Given the description of an element on the screen output the (x, y) to click on. 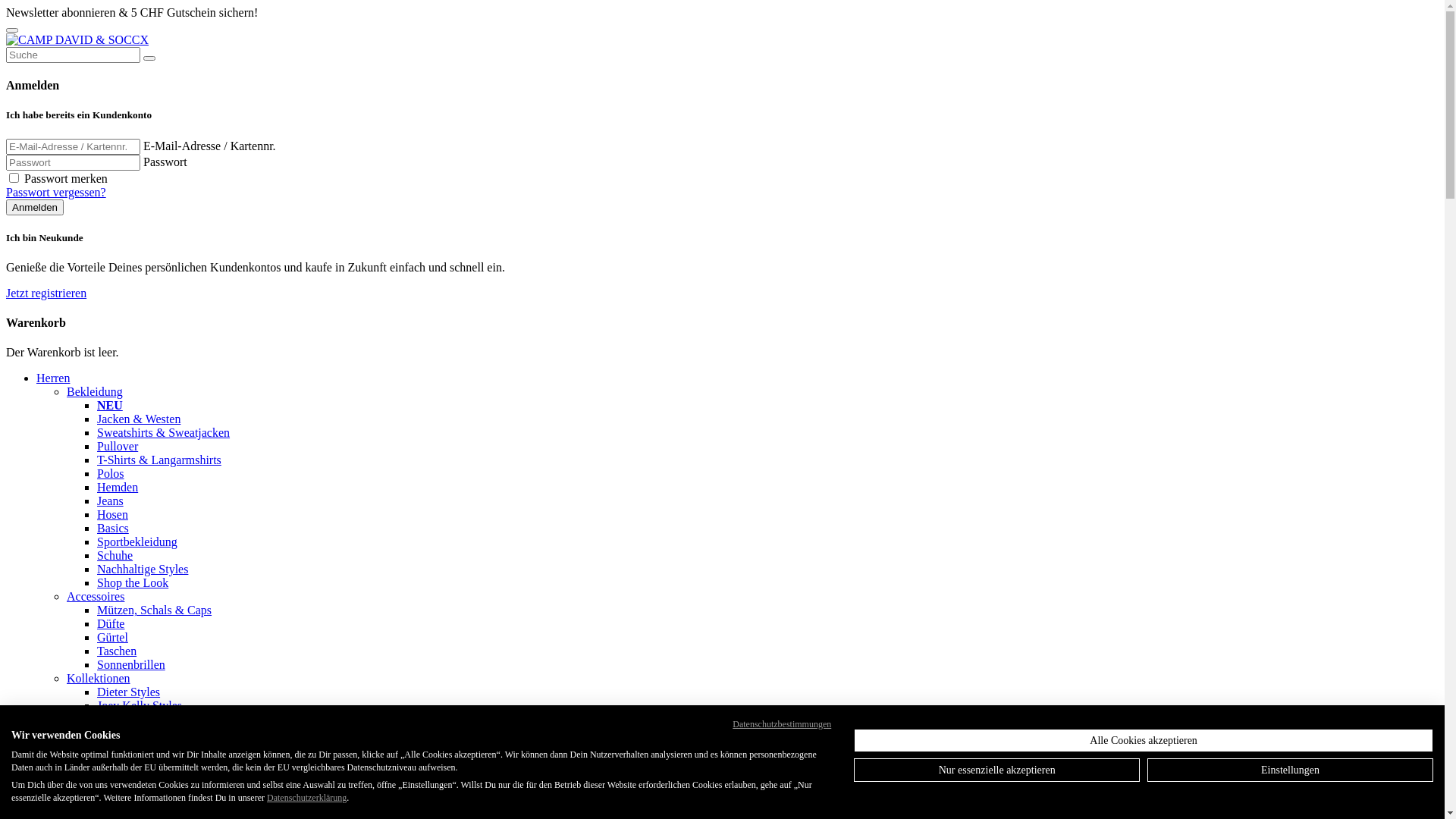
Shop the Look Element type: text (132, 582)
Urban Bike Element type: text (125, 773)
Suchen Element type: hover (149, 58)
Bekleidung Element type: text (94, 391)
Jeans Element type: text (110, 500)
Rhythm Of Berlin Element type: text (141, 718)
Kollektionen Element type: text (98, 677)
Aim For The Sky Element type: text (139, 787)
Herren Element type: text (52, 377)
Joey Kelly Styles Element type: text (139, 705)
Polos Element type: text (110, 473)
Jacken & Westen Element type: text (138, 418)
NEU Element type: text (109, 404)
Feel Free Element type: text (119, 732)
Sportbekleidung Element type: text (137, 541)
Einstellungen Element type: text (1290, 769)
Hemden Element type: text (117, 486)
Ski Race Element type: text (118, 746)
Jetzt registrieren Element type: text (46, 292)
Pullover Element type: text (117, 445)
Nachhaltige Styles Element type: text (142, 568)
Basics Element type: text (112, 527)
CAMP DAVID & SOCCX Element type: hover (77, 39)
Passwort vergessen? Element type: text (56, 191)
Nur essenzielle akzeptieren Element type: text (996, 769)
T-Shirts & Langarmshirts Element type: text (159, 459)
Mission Underwater Element type: text (146, 800)
Taschen Element type: text (116, 650)
Sweatshirts & Sweatjacken Element type: text (163, 432)
Dieter Styles Element type: text (128, 691)
Alle Cookies akzeptieren Element type: text (1143, 740)
Accessoires Element type: text (95, 595)
Hosen Element type: text (112, 514)
Schuhe Element type: text (114, 555)
Sonnenbrillen Element type: text (131, 664)
Datenschutzbestimmungen Element type: text (781, 723)
Anmelden Element type: text (34, 207)
Alaska Ice Tour Element type: text (135, 759)
Jetzt anmelden Element type: text (296, 12)
